Given the description of an element on the screen output the (x, y) to click on. 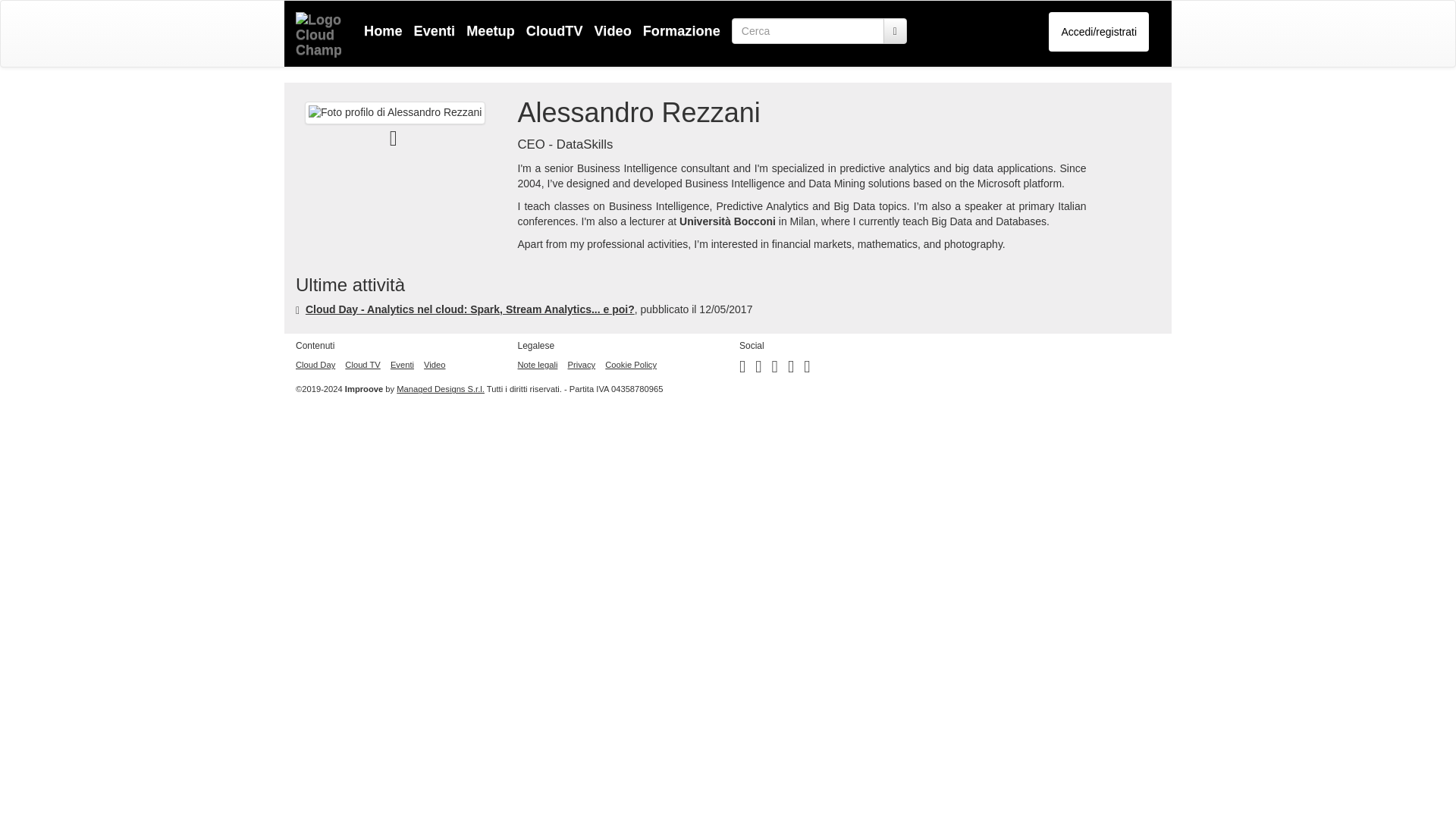
Canale YouTube (806, 368)
Profilo Twitter (790, 368)
Managed Designs S.r.l. (440, 388)
Cookie Policy (630, 364)
Logo Cloud Champions (317, 34)
Eventi (401, 364)
Formazione (675, 30)
Meetup (484, 30)
CloudTV (549, 30)
Video (607, 30)
Foto profilo di Alessandro Rezzani (394, 112)
Eventi (429, 30)
Cloud Day (314, 364)
Video (434, 364)
